Given the description of an element on the screen output the (x, y) to click on. 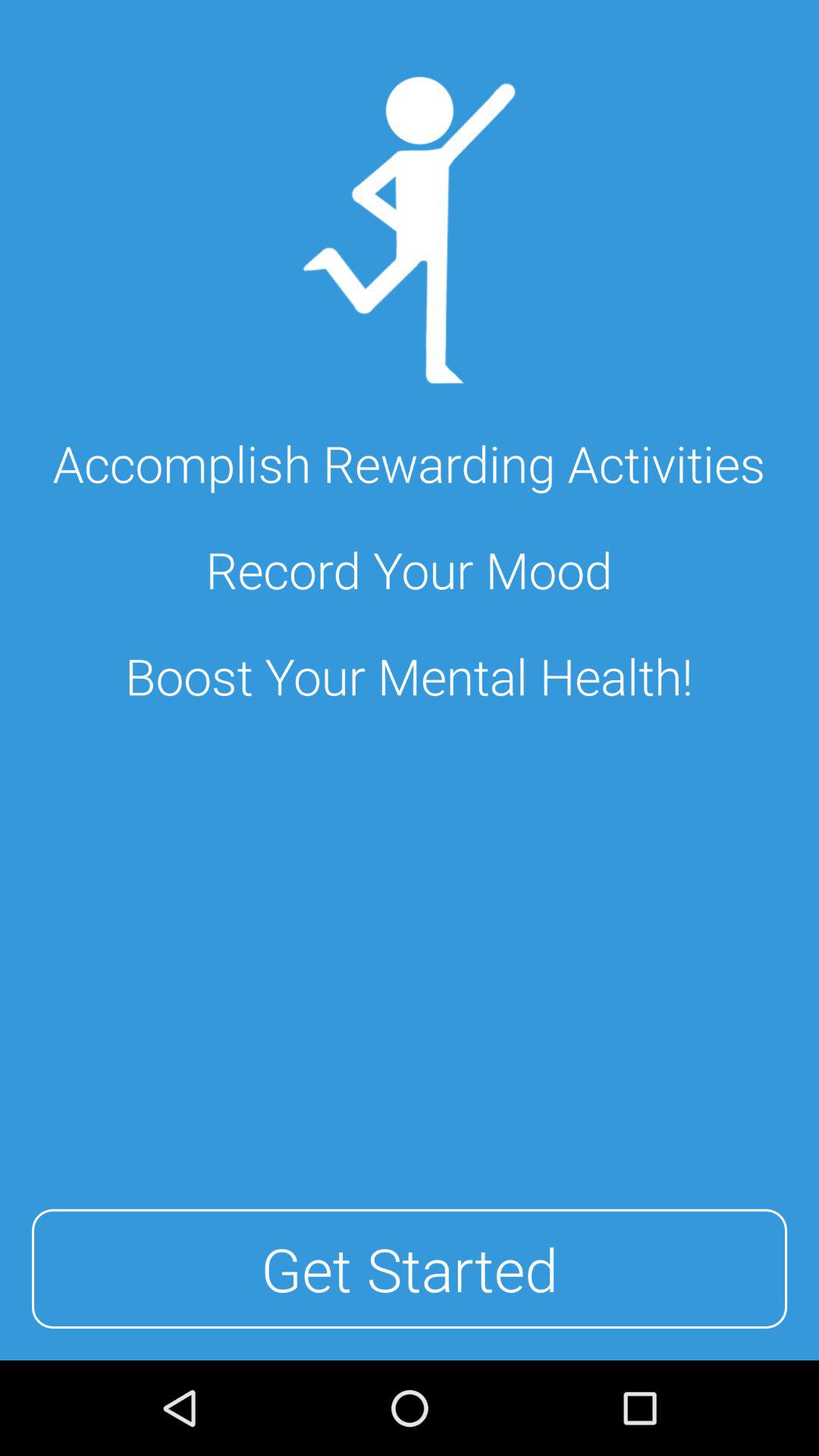
launch the item below the boost your mental item (409, 1268)
